Given the description of an element on the screen output the (x, y) to click on. 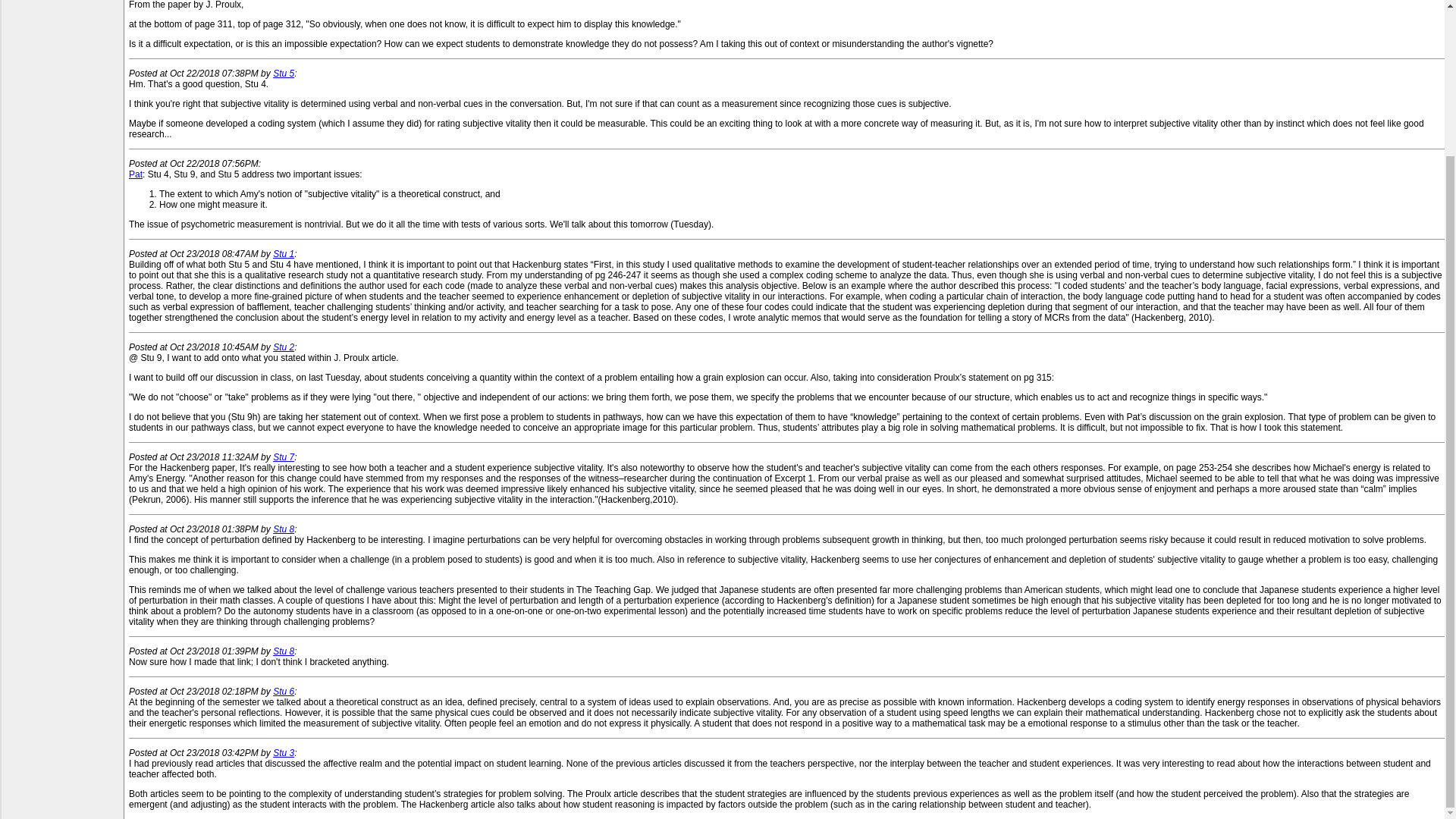
Stu 7 (283, 457)
Stu 3 (283, 752)
Pat (135, 173)
Stu 5 (283, 72)
Stu 8 (283, 529)
Stu 1 (283, 253)
Stu 8 (283, 651)
Stu 6 (283, 691)
Stu 2 (283, 347)
